Given the description of an element on the screen output the (x, y) to click on. 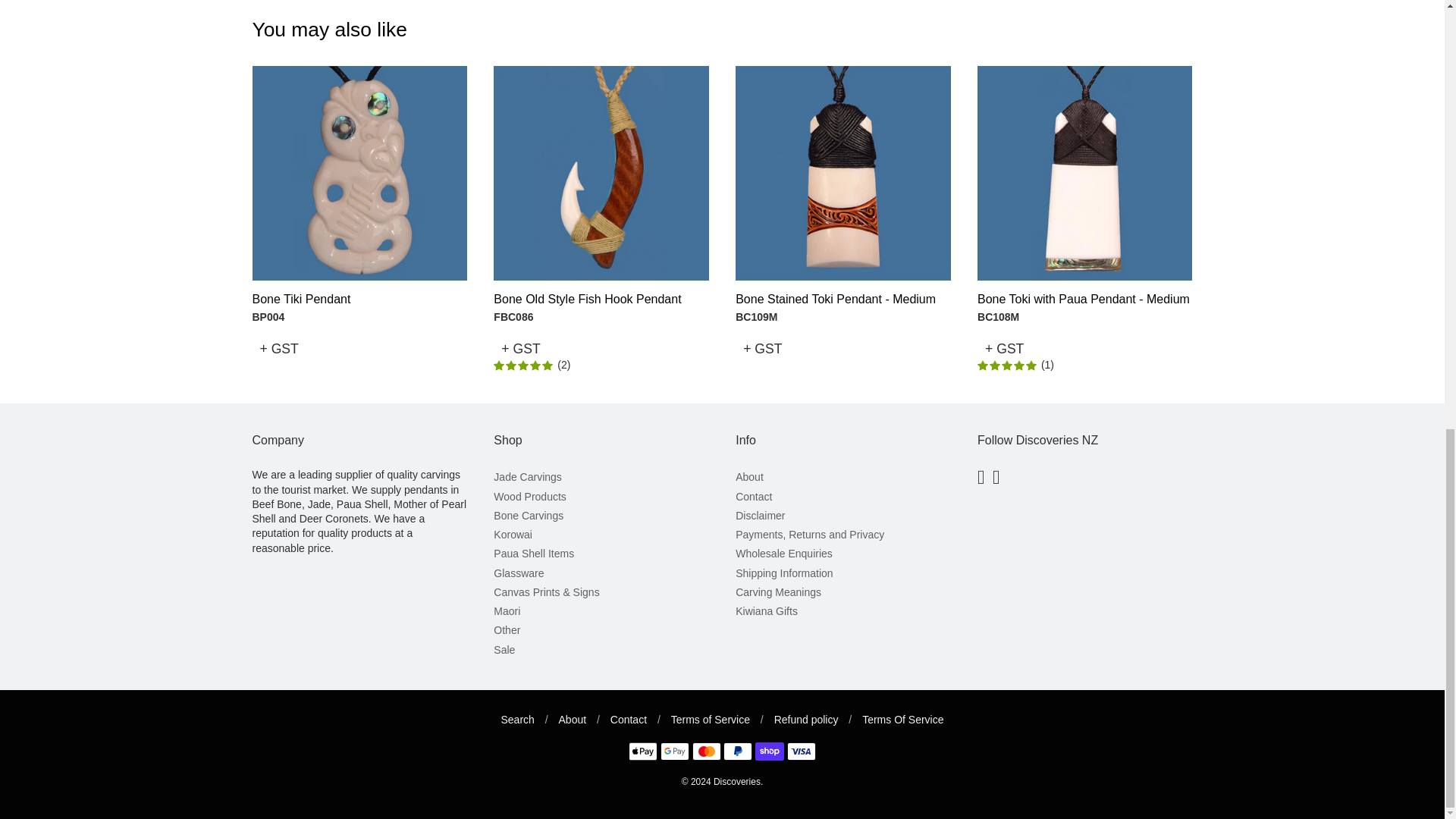
Apple Pay (643, 751)
Bone Old Style Fish Hook Pendant (587, 298)
Shop Pay (769, 751)
Visa (801, 751)
Medium Toki Pendant (1084, 173)
Bone Toki with Paua Pendant - Medium (1082, 298)
Bone Stained Toki Pendant - Medium (835, 298)
Carved Bone Tiki Pendant on Black Adjustable Cord (358, 173)
Google Pay (674, 751)
Bone Tiki Pendant (300, 298)
PayPal (737, 751)
Mastercard (706, 751)
